Given the description of an element on the screen output the (x, y) to click on. 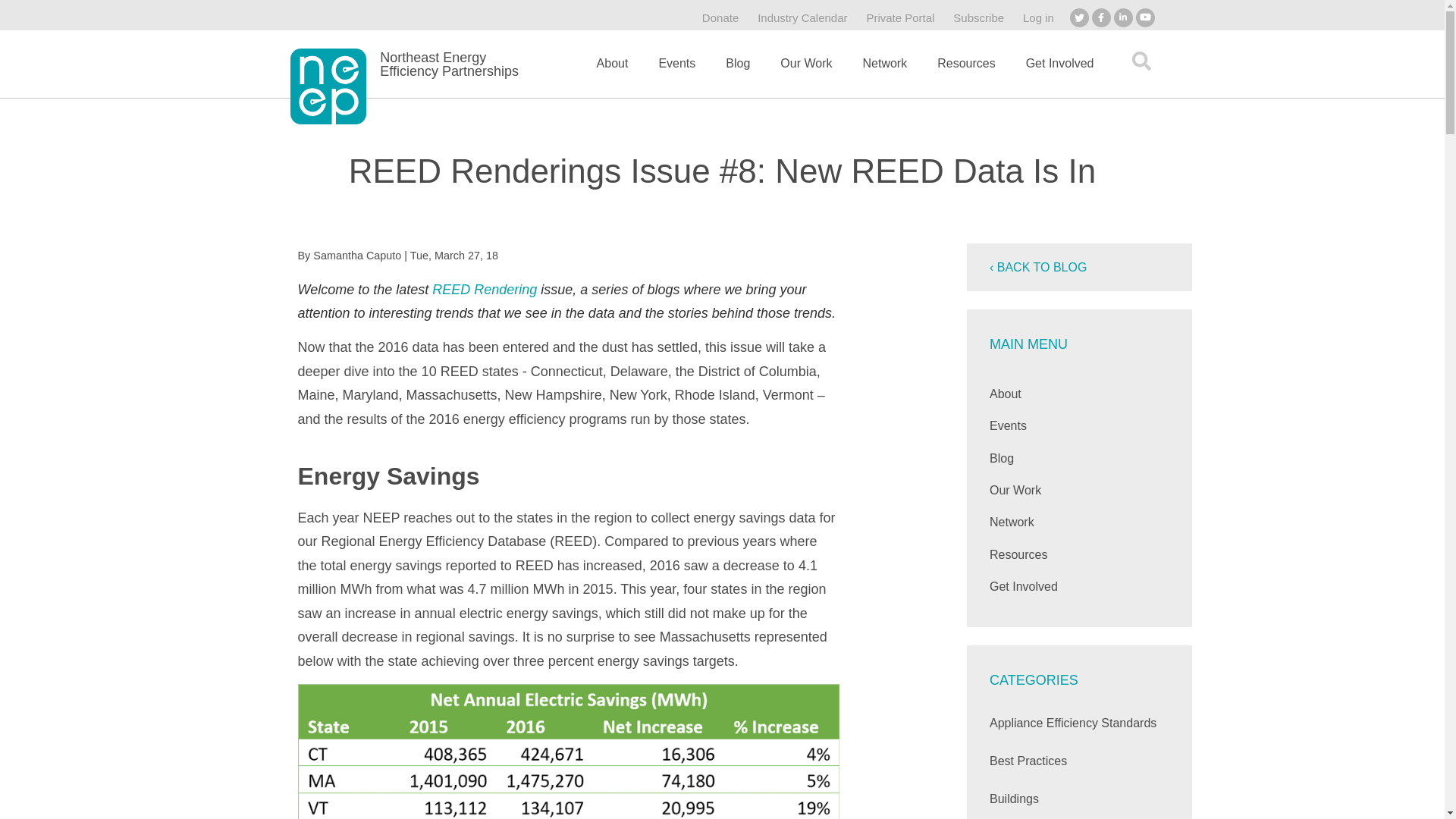
Home (327, 86)
About (611, 70)
Events (676, 70)
Donate (719, 16)
Log in (1038, 16)
Private Portal (900, 16)
Northeast Energy Efficiency Partnerships (449, 64)
Blog (737, 70)
Industry Calendar (802, 16)
Home (449, 64)
Subscribe (978, 16)
Log in (1038, 16)
Our Work (806, 70)
